Given the description of an element on the screen output the (x, y) to click on. 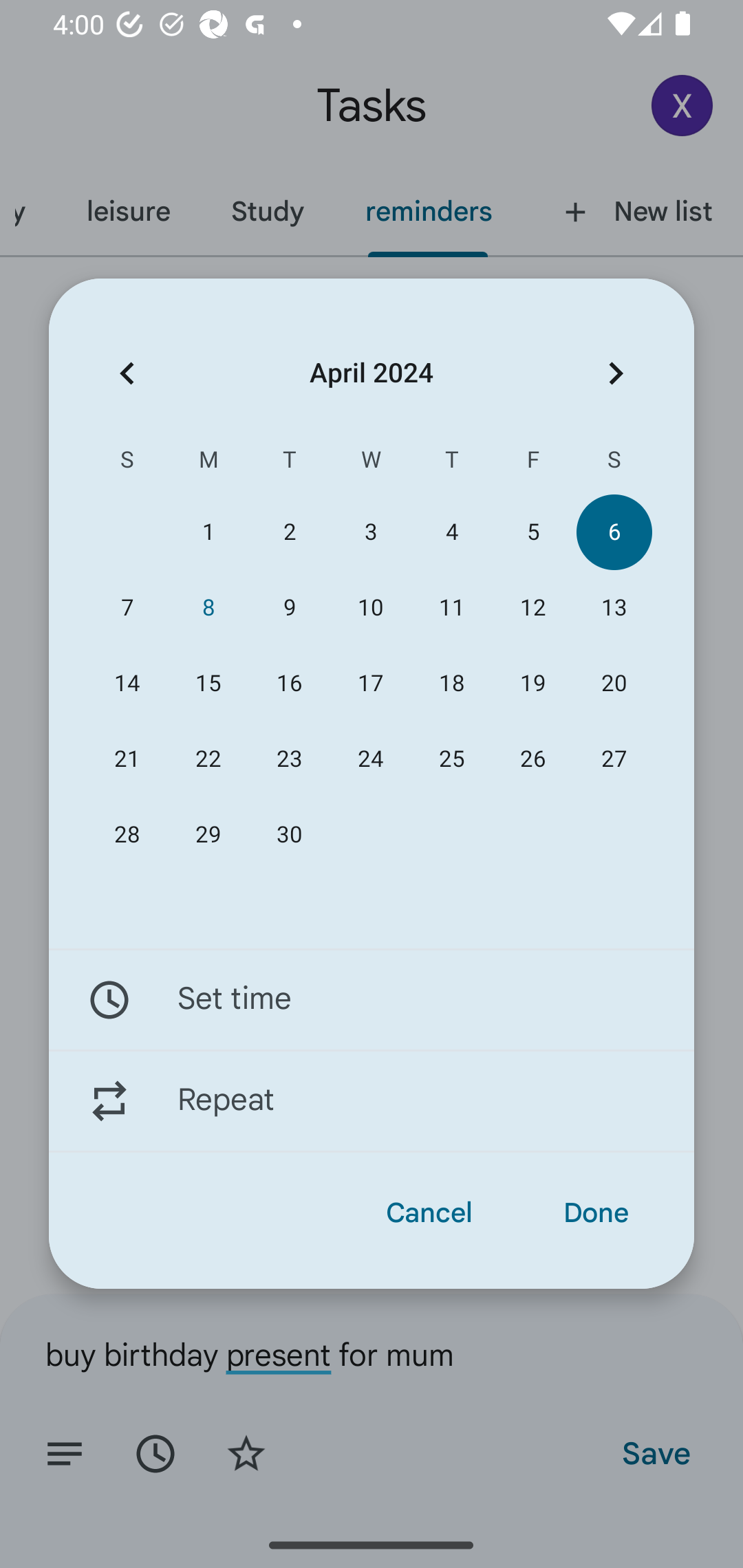
Previous month (126, 372)
Next month (615, 372)
1 01 April 2024 (207, 531)
2 02 April 2024 (288, 531)
3 03 April 2024 (370, 531)
4 04 April 2024 (451, 531)
5 05 April 2024 (532, 531)
6 06 April 2024 (613, 531)
7 07 April 2024 (126, 608)
8 08 April 2024 (207, 608)
9 09 April 2024 (288, 608)
10 10 April 2024 (370, 608)
11 11 April 2024 (451, 608)
12 12 April 2024 (532, 608)
13 13 April 2024 (613, 608)
14 14 April 2024 (126, 683)
15 15 April 2024 (207, 683)
16 16 April 2024 (288, 683)
17 17 April 2024 (370, 683)
18 18 April 2024 (451, 683)
19 19 April 2024 (532, 683)
20 20 April 2024 (613, 683)
21 21 April 2024 (126, 758)
22 22 April 2024 (207, 758)
23 23 April 2024 (288, 758)
24 24 April 2024 (370, 758)
25 25 April 2024 (451, 758)
26 26 April 2024 (532, 758)
27 27 April 2024 (613, 758)
28 28 April 2024 (126, 834)
29 29 April 2024 (207, 834)
30 30 April 2024 (288, 834)
Set time (371, 999)
Repeat (371, 1101)
Cancel (429, 1213)
Done (595, 1213)
